Given the description of an element on the screen output the (x, y) to click on. 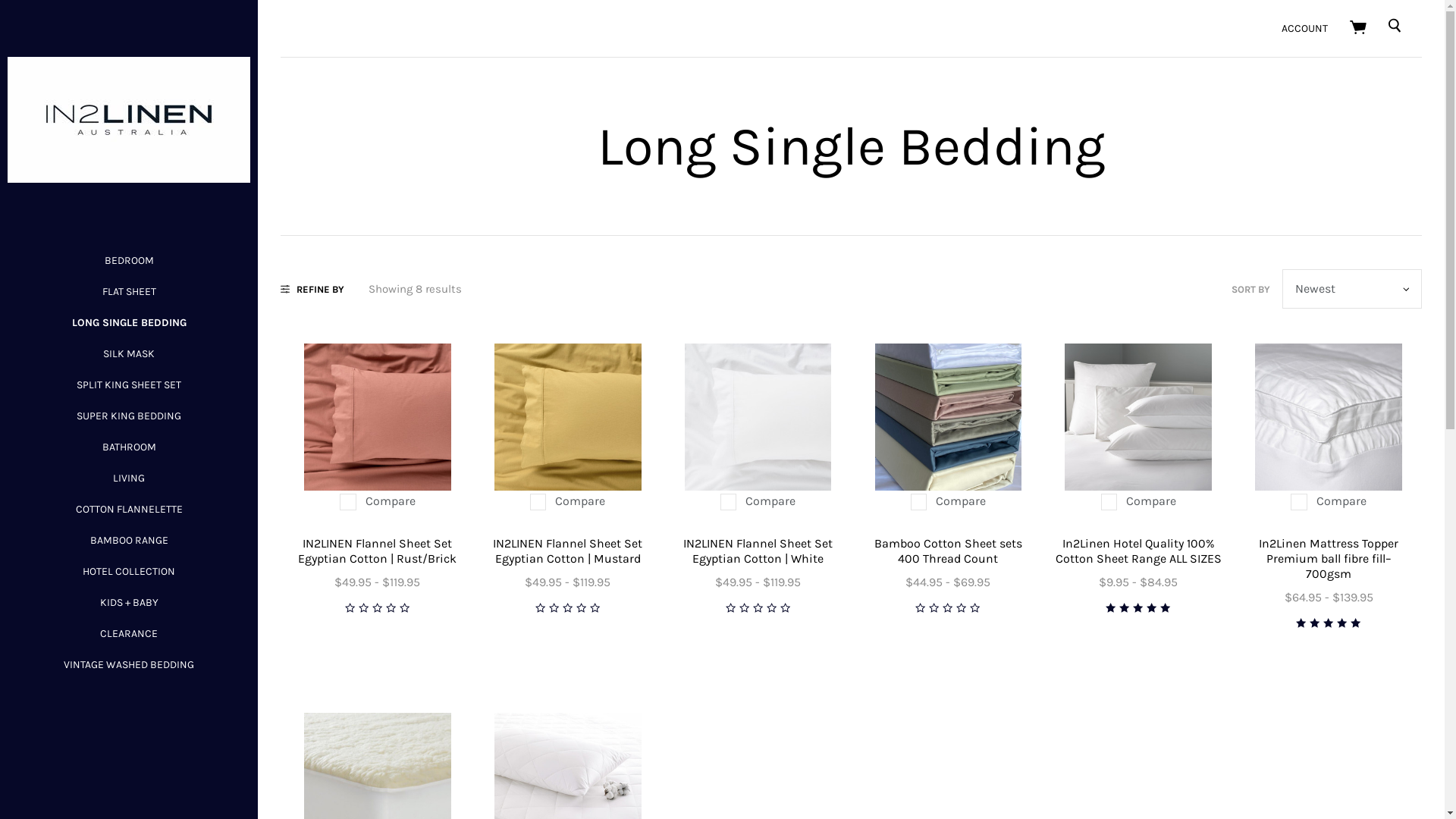
IN2LINEN Flannel Sheet Set Egyptian Cotton | Mustard Element type: hover (567, 416)
Bamboo Cotton Sheet sets 400 Thread Count Element type: text (948, 550)
COTTON FLANNELETTE Element type: text (128, 508)
IN2LINEN Flannel Sheet Set Egyptian Cotton | Mustard Element type: text (567, 550)
BEDROOM Element type: text (128, 260)
FLAT SHEET Element type: text (128, 291)
CLEARANCE Element type: text (128, 633)
SILK MASK Element type: text (128, 353)
IN2LINEN Flannel Sheet Set Egyptian Cotton | White Element type: hover (757, 416)
ACCOUNT Element type: text (1304, 27)
HOTEL COLLECTION Element type: text (128, 570)
BAMBOO RANGE Element type: text (128, 539)
CART Element type: text (1358, 27)
In2Linen Hotel Quality 100% Cotton Sheet Range ALL SIZES Element type: hover (1137, 416)
Bamboo Cotton sheet sets Colours may slightly vary Element type: hover (948, 416)
IN2LINEN Flannel Sheet Set Egyptian Cotton | White Element type: text (757, 550)
KIDS + BABY Element type: text (129, 602)
LIVING Element type: text (128, 477)
FILTER REFINE BY Element type: text (312, 288)
IN2LINEN Flannel Sheet Set Egyptian Cotton | Rust/Brick Element type: hover (377, 416)
BATHROOM Element type: text (128, 446)
SUPER KING BEDDING Element type: text (128, 415)
VINTAGE WASHED BEDDING Element type: text (128, 664)
LONG SINGLE BEDDING Element type: text (128, 322)
SPLIT KING SHEET SET Element type: text (128, 384)
In2Linen Hotel Quality 100% Cotton Sheet Range ALL SIZES Element type: text (1138, 550)
IN2LINEN Flannel Sheet Set Egyptian Cotton | Rust/Brick Element type: text (377, 550)
